Given the description of an element on the screen output the (x, y) to click on. 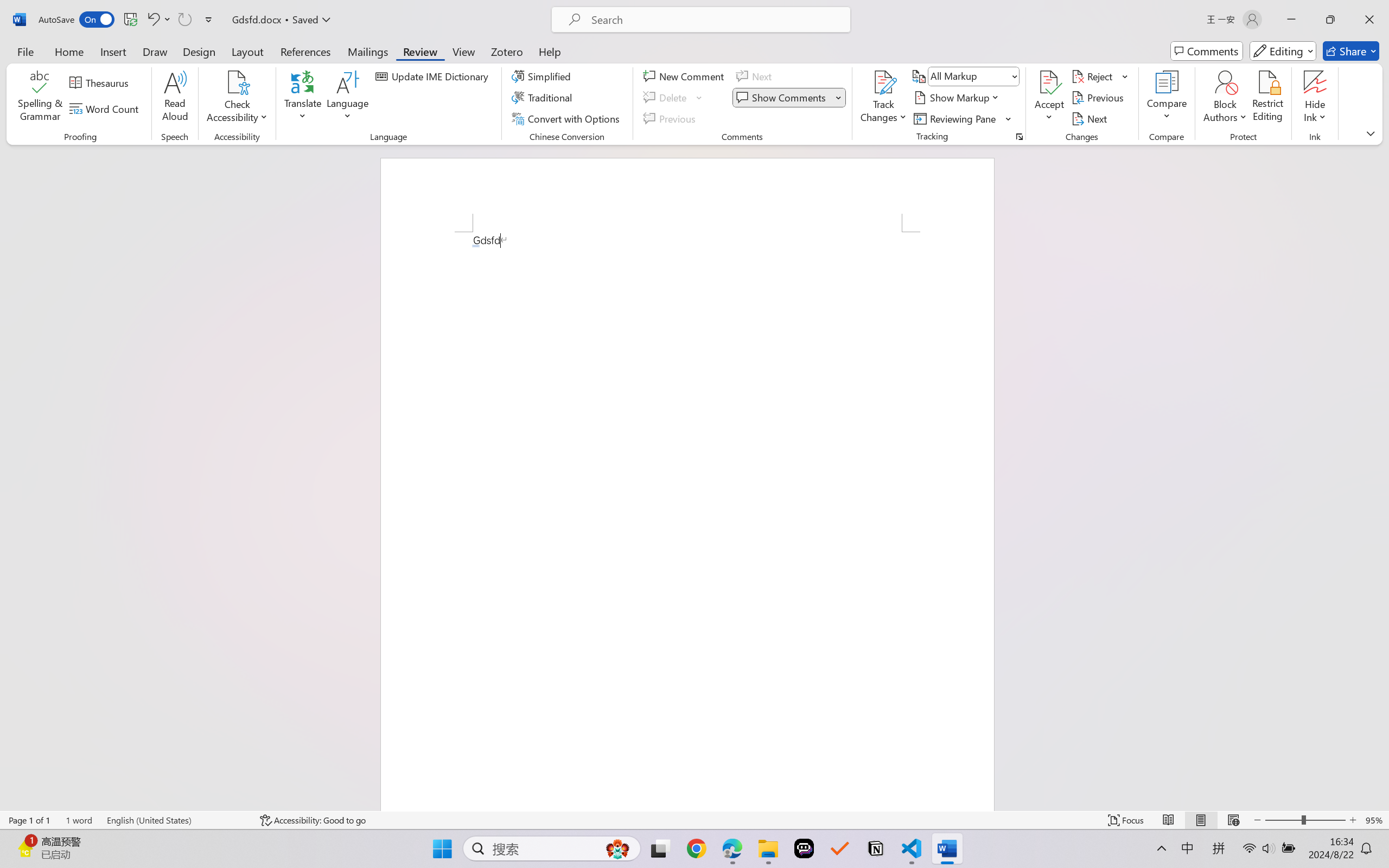
Undo AutoCorrect (158, 19)
Next (1090, 118)
Undo AutoCorrect (152, 19)
Zoom 95% (1374, 819)
Show Comments (782, 97)
New Comment (685, 75)
Hide Ink (1315, 81)
Hide Ink (1315, 97)
